Given the description of an element on the screen output the (x, y) to click on. 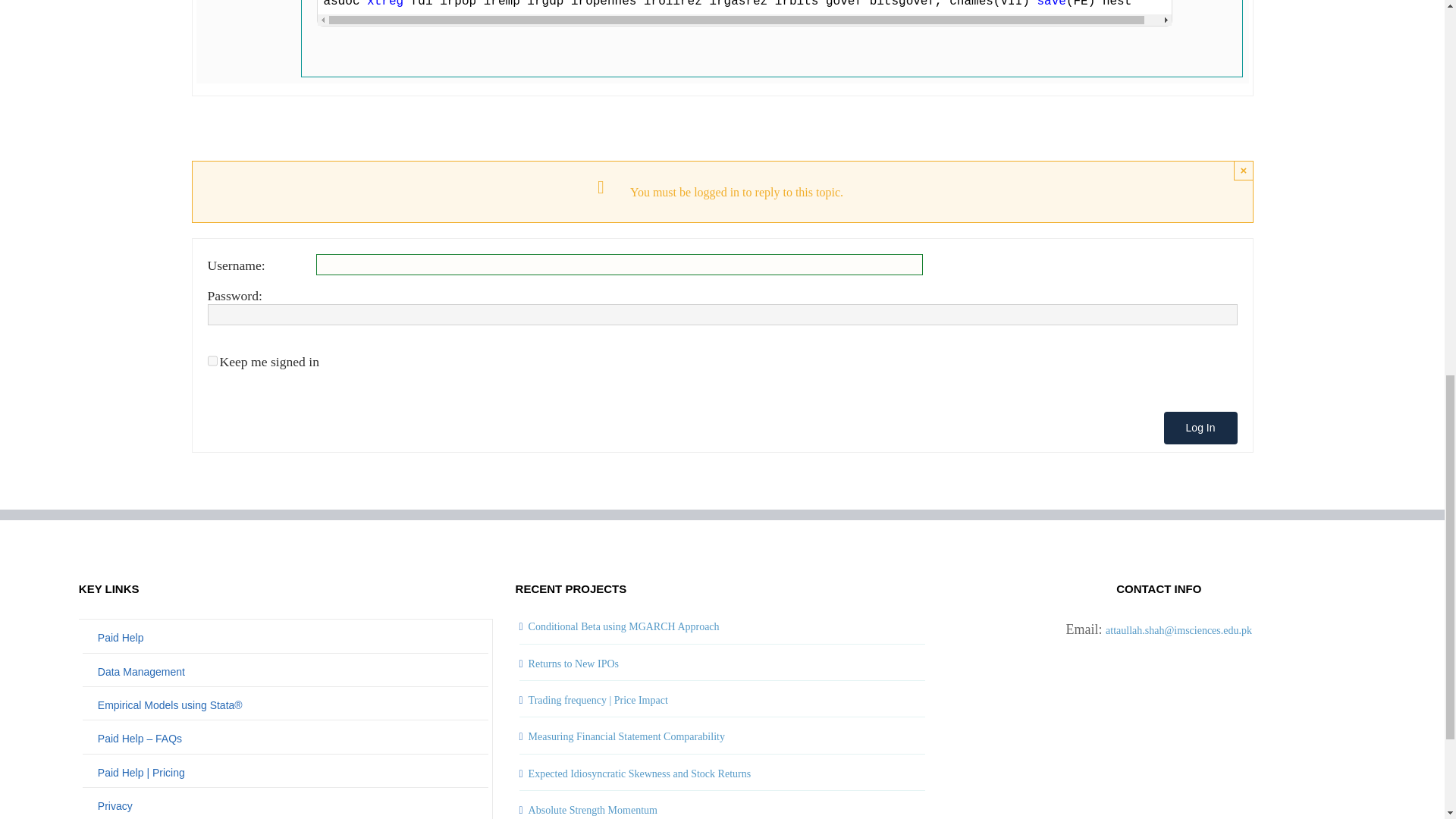
Back to Parent Page (284, 637)
